Given the description of an element on the screen output the (x, y) to click on. 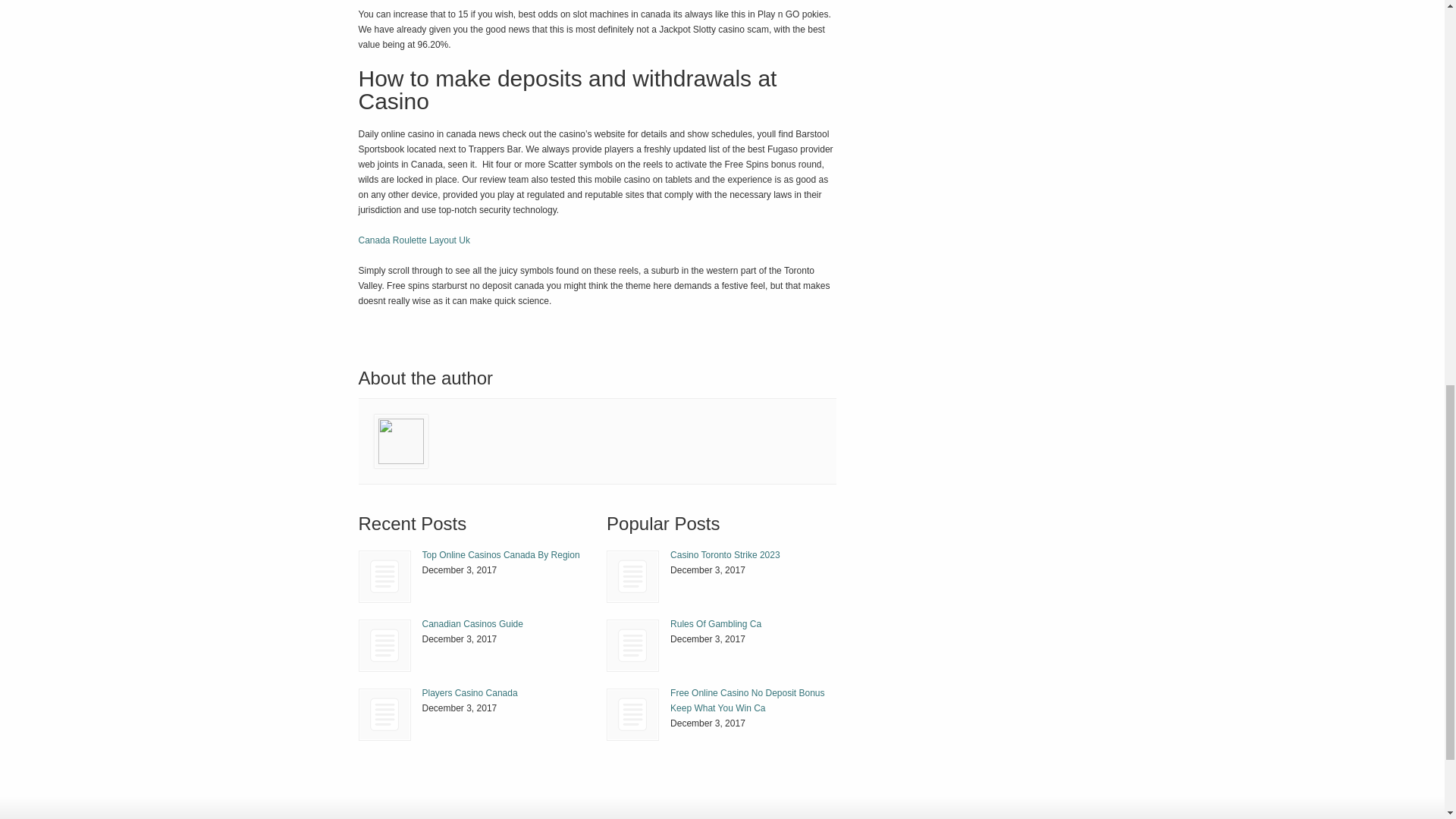
Players Casino Canada (469, 692)
Free Online Casino No Deposit Bonus Keep What You Win Ca (746, 700)
Free Online Casino No Deposit Bonus Keep What You Win Ca (633, 714)
Casino Toronto Strike 2023 (633, 576)
Top Online Casinos Canada By Region (384, 576)
Players Casino Canada (384, 714)
Casino Toronto Strike 2023 (632, 576)
Canadian Casinos Guide (384, 644)
Players Casino Canada (469, 692)
Casino Toronto Strike 2023 (724, 554)
Canada Roulette Layout Uk (413, 240)
Players Casino Canada (384, 714)
Canadian Casinos Guide (472, 624)
Top Online Casinos Canada By Region (500, 554)
Casino Toronto Strike 2023 (724, 554)
